Given the description of an element on the screen output the (x, y) to click on. 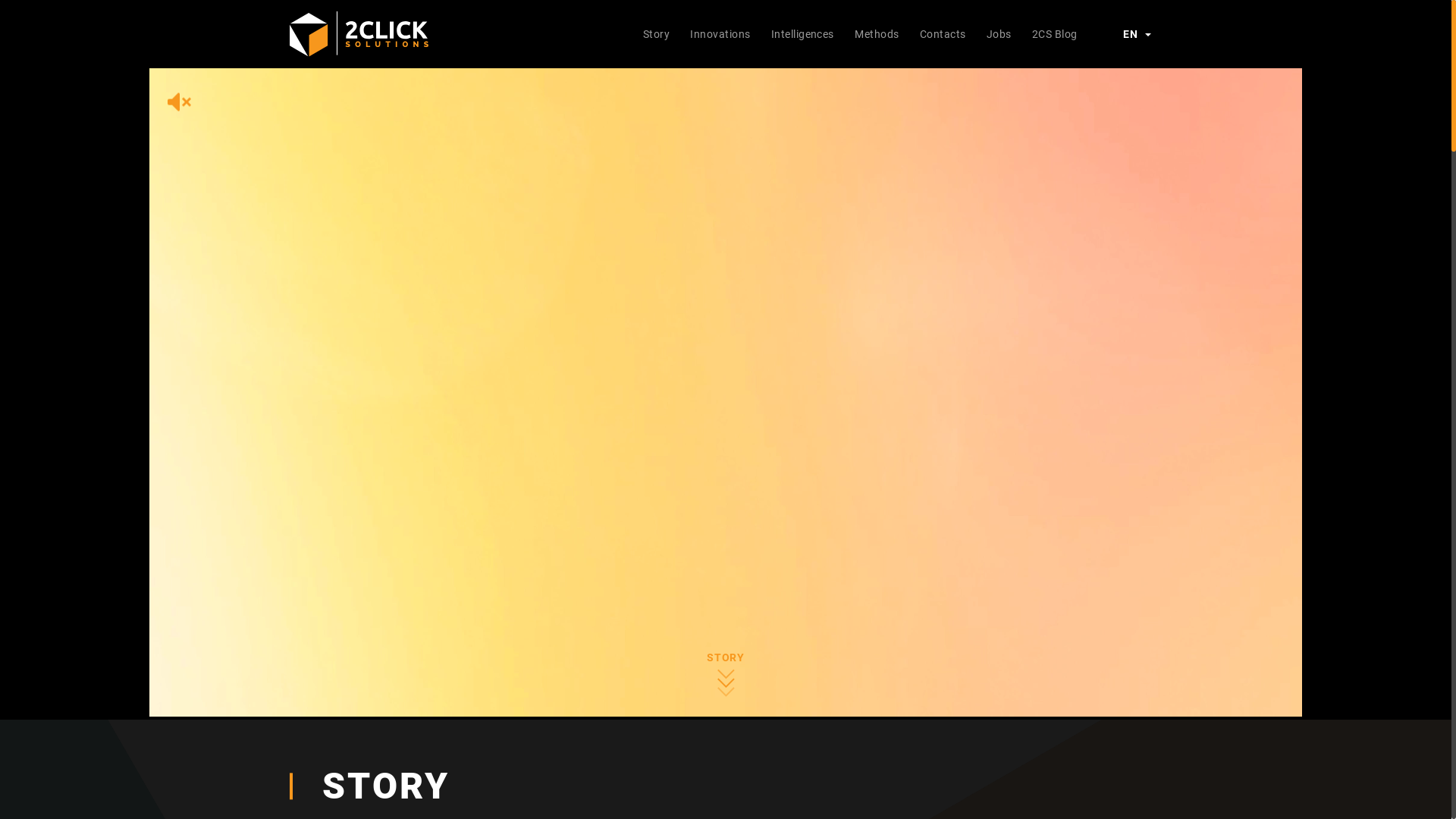
Innovations Element type: text (720, 33)
Jobs Element type: text (998, 33)
Contacts Element type: text (942, 33)
Intelligences Element type: text (802, 33)
Story Element type: text (656, 33)
2CS Blog Element type: text (1054, 33)
Methods Element type: text (877, 33)
